Given the description of an element on the screen output the (x, y) to click on. 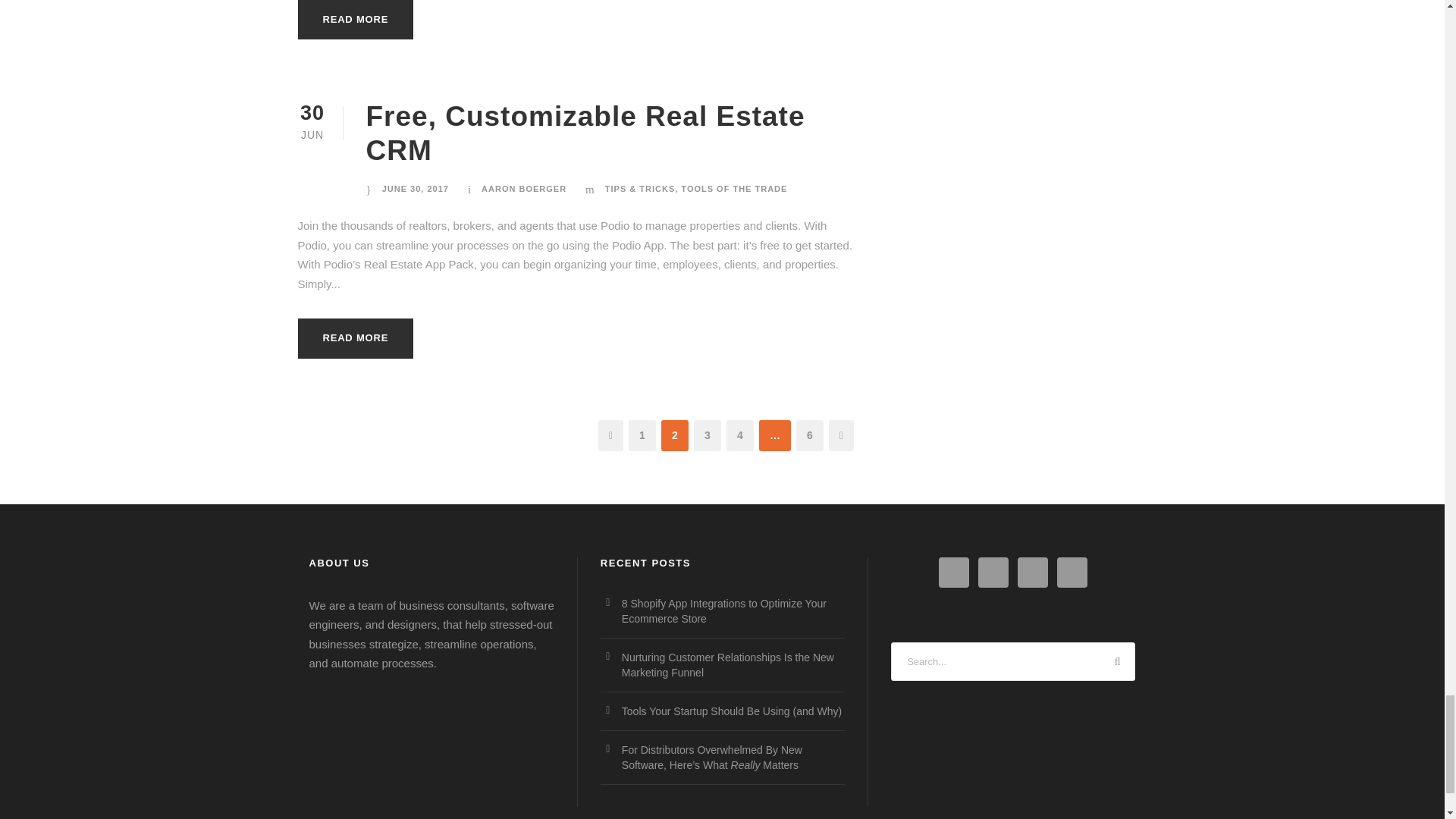
Posts by Aaron Boerger (523, 188)
